Given the description of an element on the screen output the (x, y) to click on. 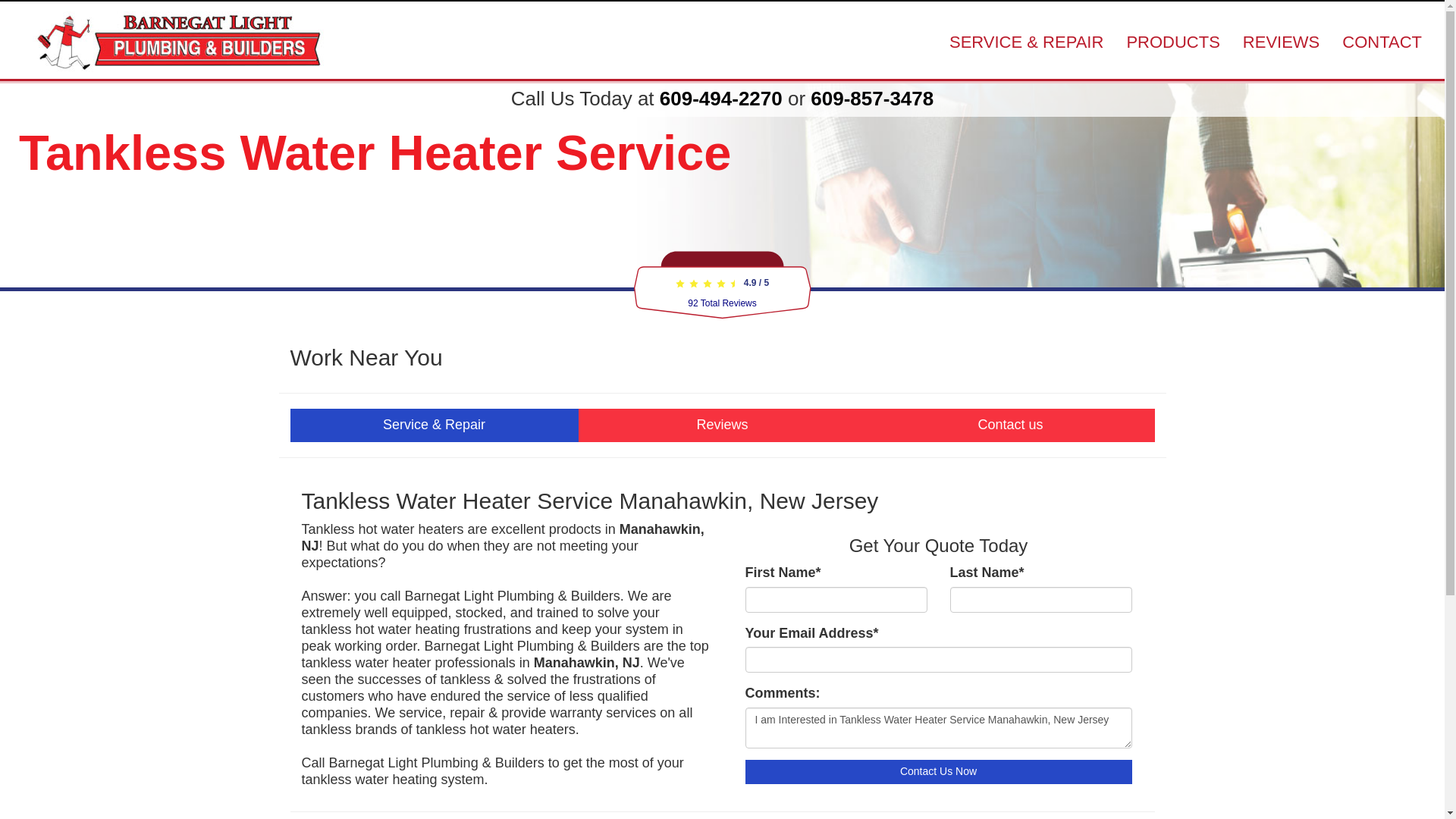
Contact us (1010, 425)
CONTACT (1381, 42)
609-857-3478 (871, 97)
PRODUCTS (1172, 42)
92 Total Reviews (722, 303)
REVIEWS (1280, 42)
Contact Us Now (937, 771)
609-494-2270 (721, 97)
Reviews (722, 425)
